Given the description of an element on the screen output the (x, y) to click on. 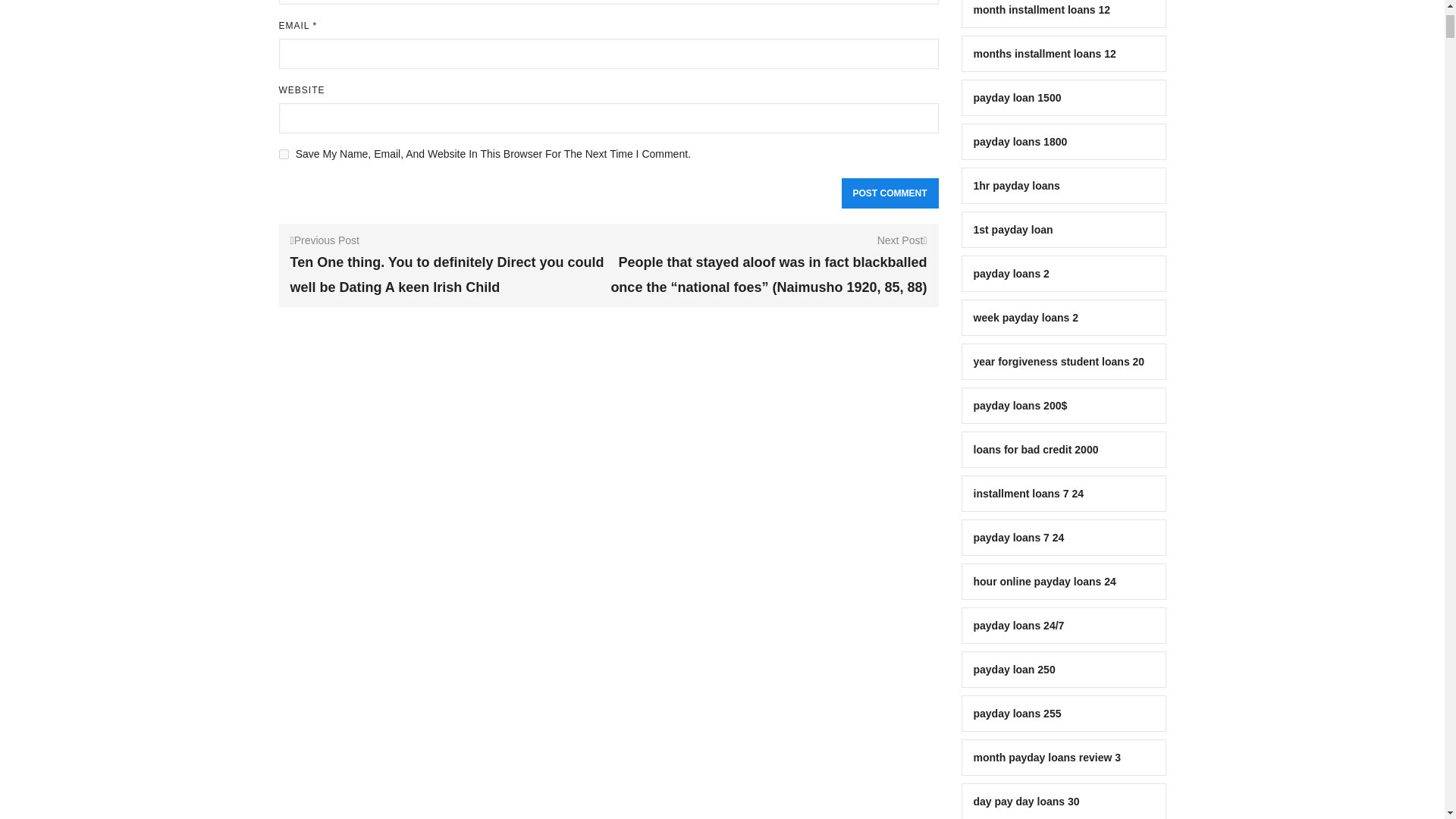
Post Comment (890, 193)
Post Comment (890, 193)
yes (283, 153)
